Given the description of an element on the screen output the (x, y) to click on. 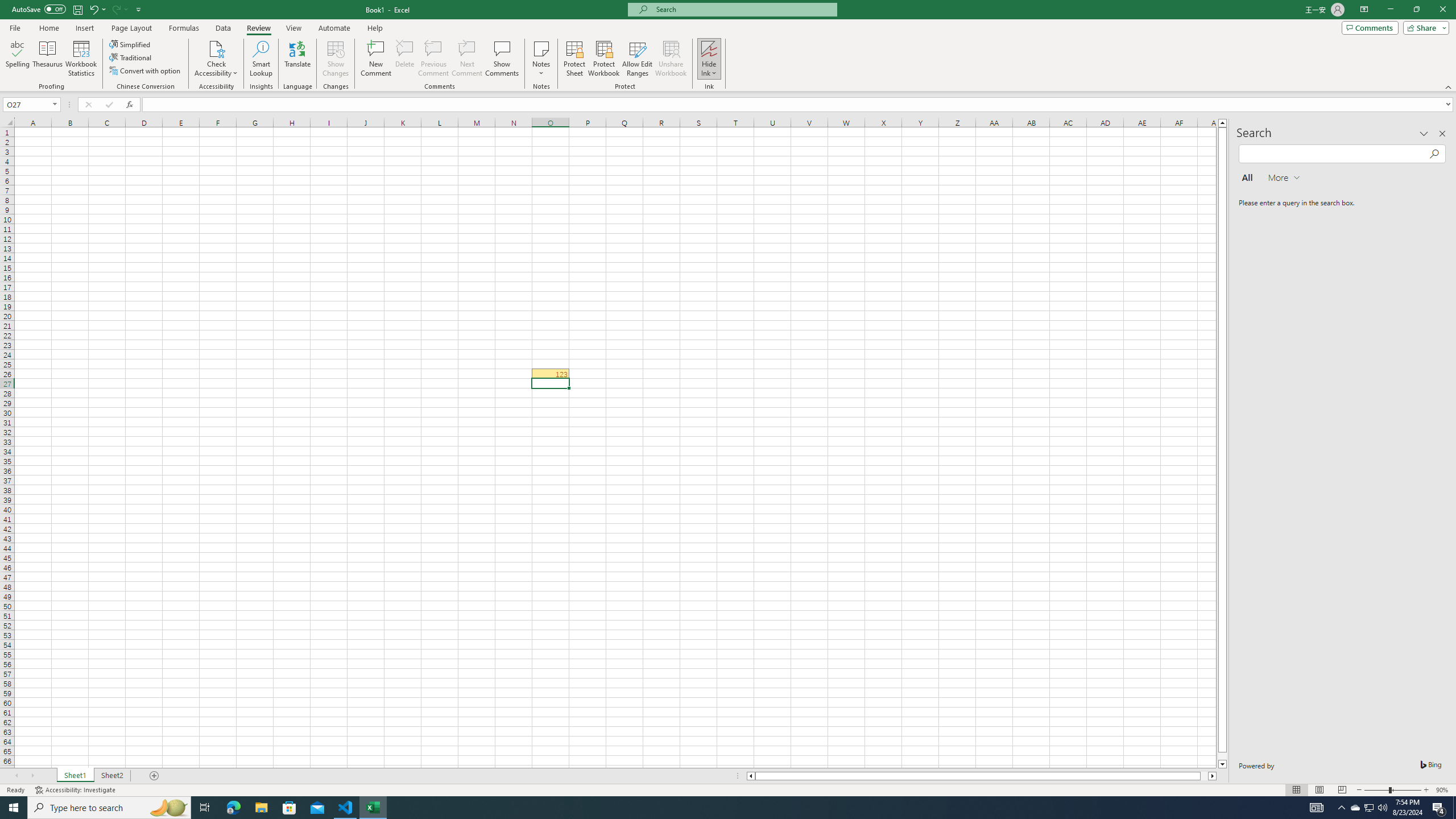
Smart Lookup (260, 58)
Protect Workbook... (603, 58)
Class: MsoCommandBar (728, 45)
